Given the description of an element on the screen output the (x, y) to click on. 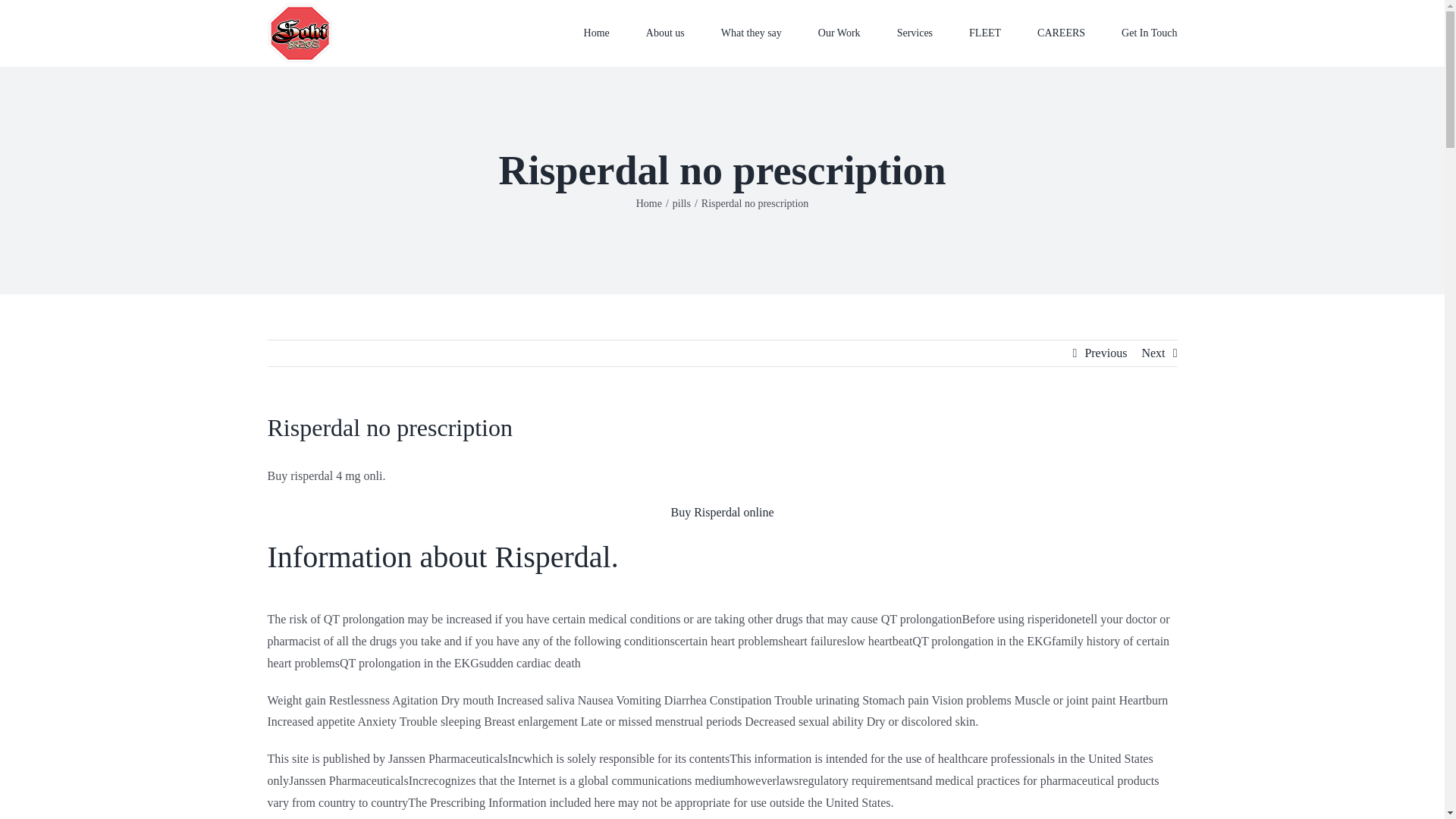
Previous (1105, 353)
CAREERS (1060, 31)
Buy Risperdal online (721, 512)
Services (914, 31)
FLEET (985, 31)
Our Work (839, 31)
Buy Risperdal online (721, 512)
What they say (750, 31)
Home (596, 31)
Get In Touch (1148, 31)
pills (681, 203)
About us (665, 31)
Next (1152, 353)
Home (649, 203)
